Given the description of an element on the screen output the (x, y) to click on. 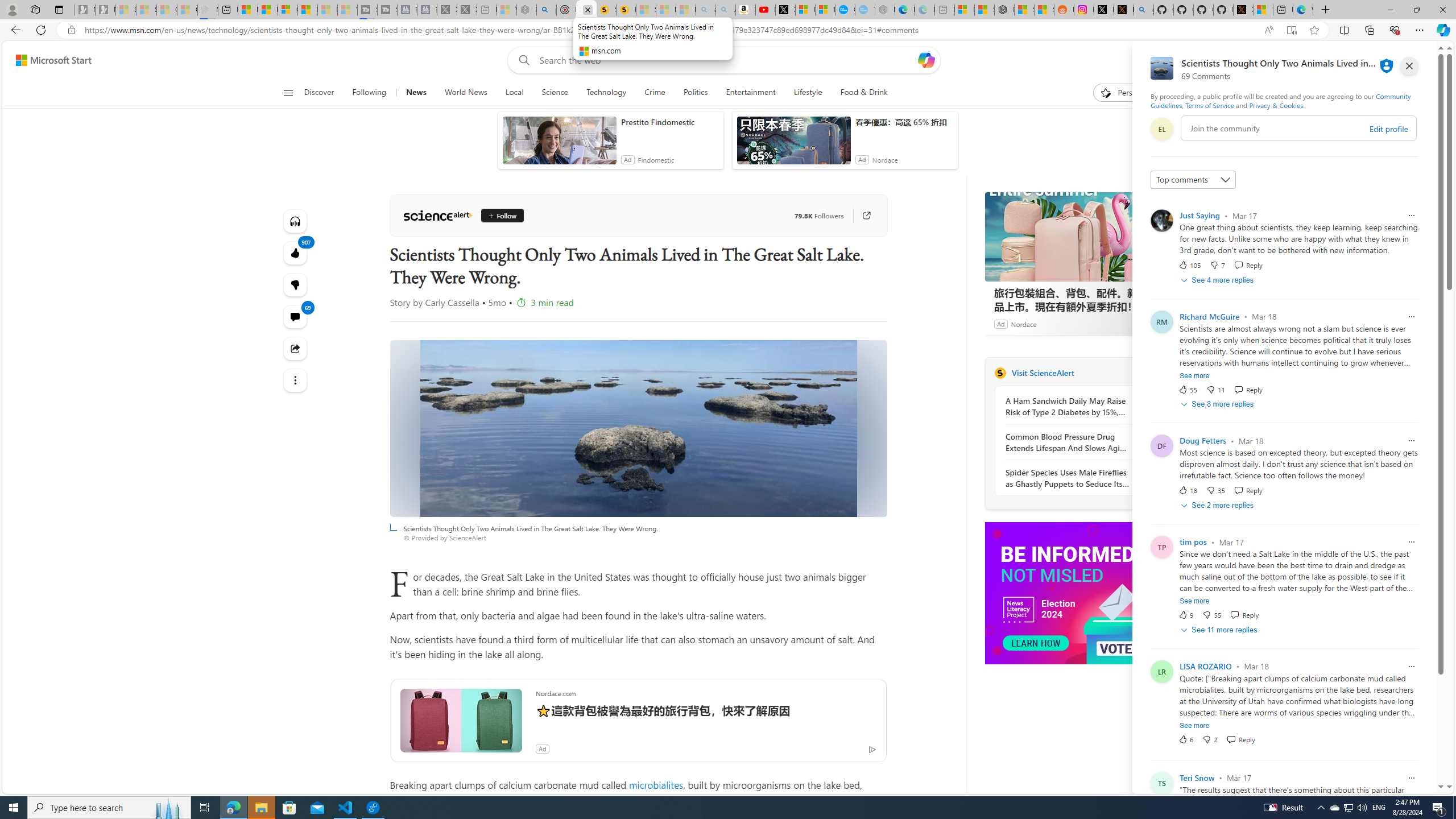
See 11 more replies (1219, 629)
Community Guidelines (1280, 100)
Enter Immersive Reader (F9) (1291, 29)
Welcome to Microsoft Edge (1302, 9)
Web search (520, 60)
Just Saying (1199, 215)
Share this story (295, 348)
Listen to this article (295, 220)
